Given the description of an element on the screen output the (x, y) to click on. 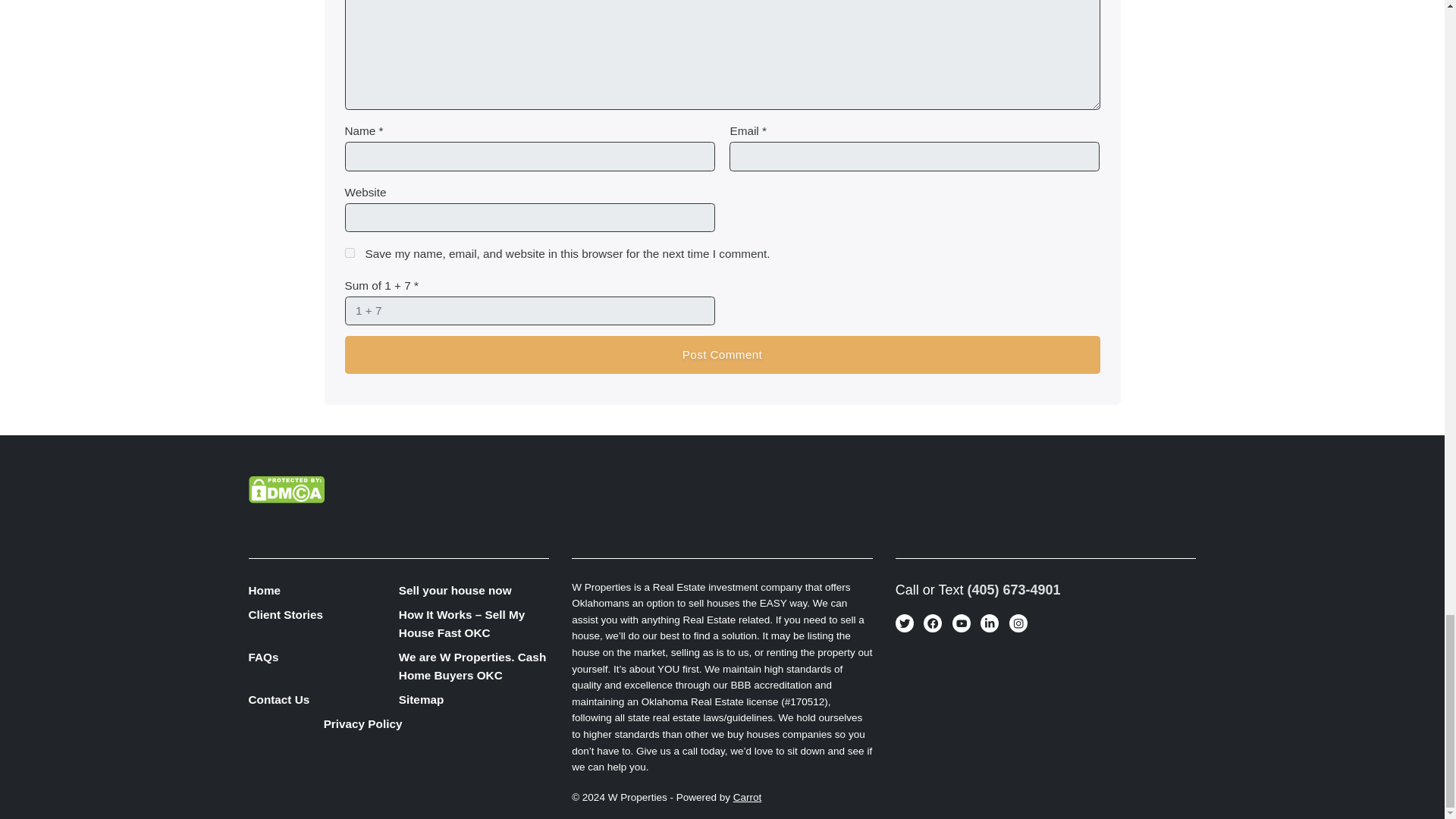
Post Comment (721, 354)
yes (348, 252)
DMCA.com Protection Status (286, 488)
